Given the description of an element on the screen output the (x, y) to click on. 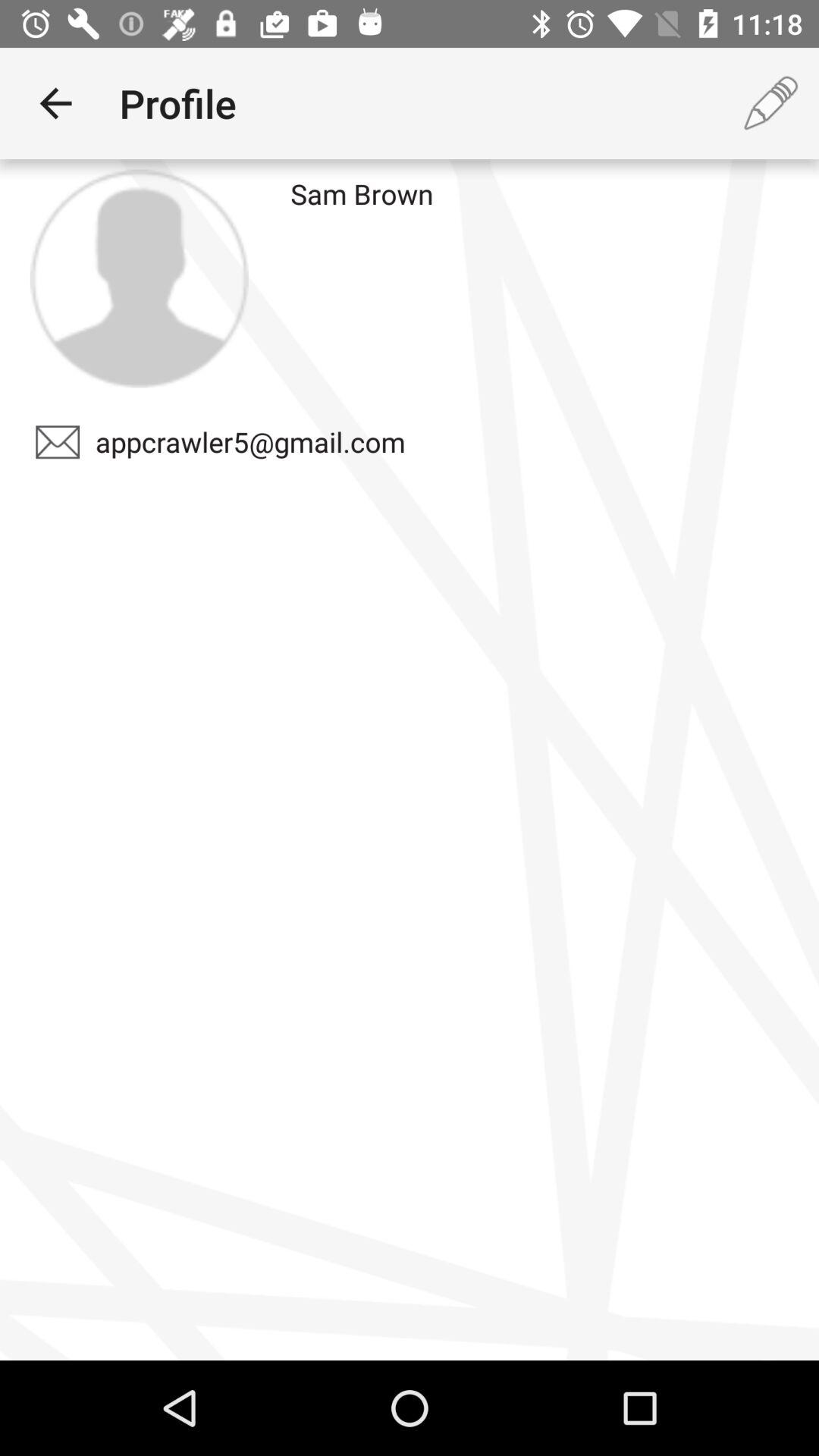
select item next to the sam brown icon (139, 278)
